Given the description of an element on the screen output the (x, y) to click on. 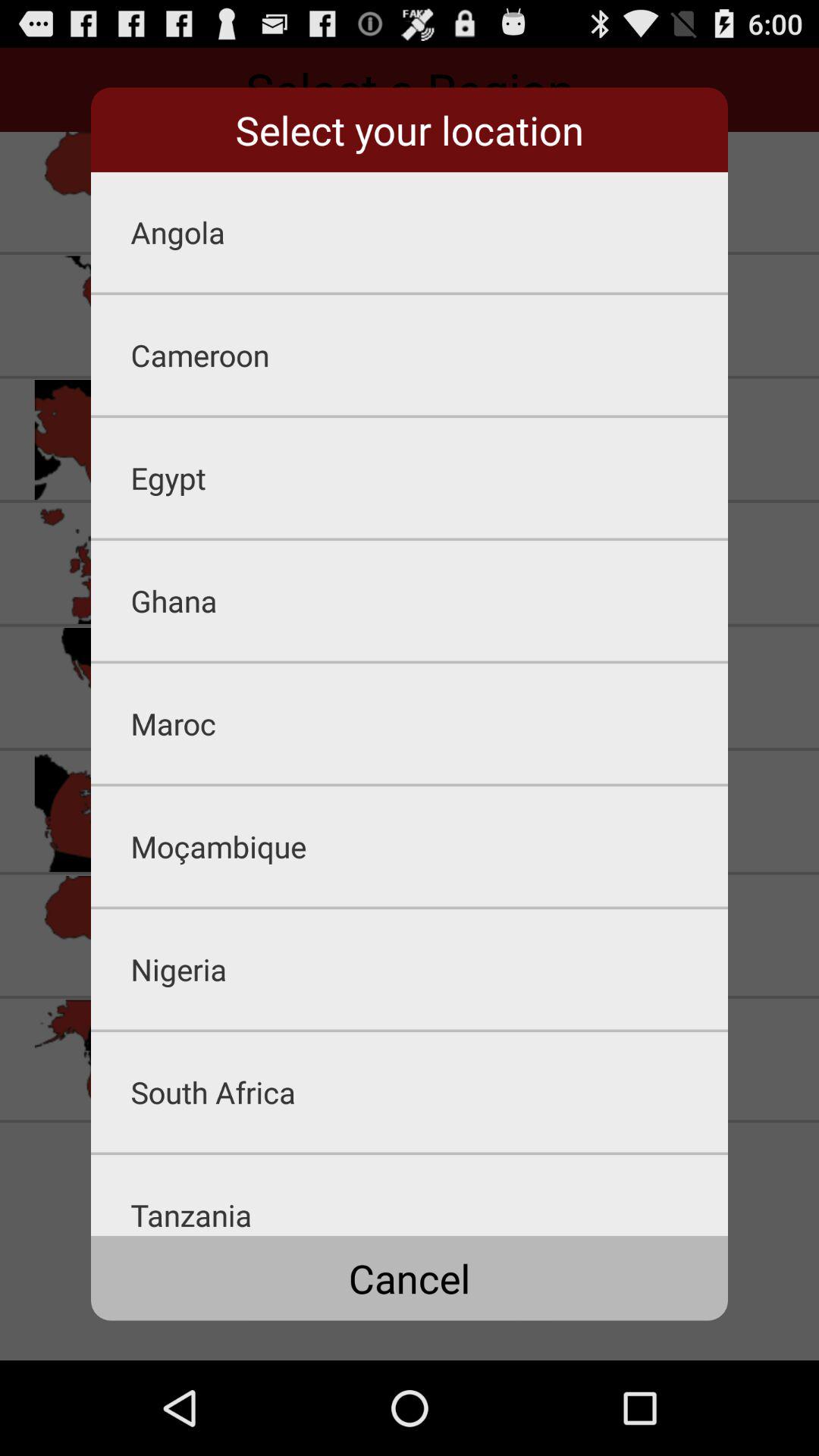
click the cancel app (409, 1277)
